Given the description of an element on the screen output the (x, y) to click on. 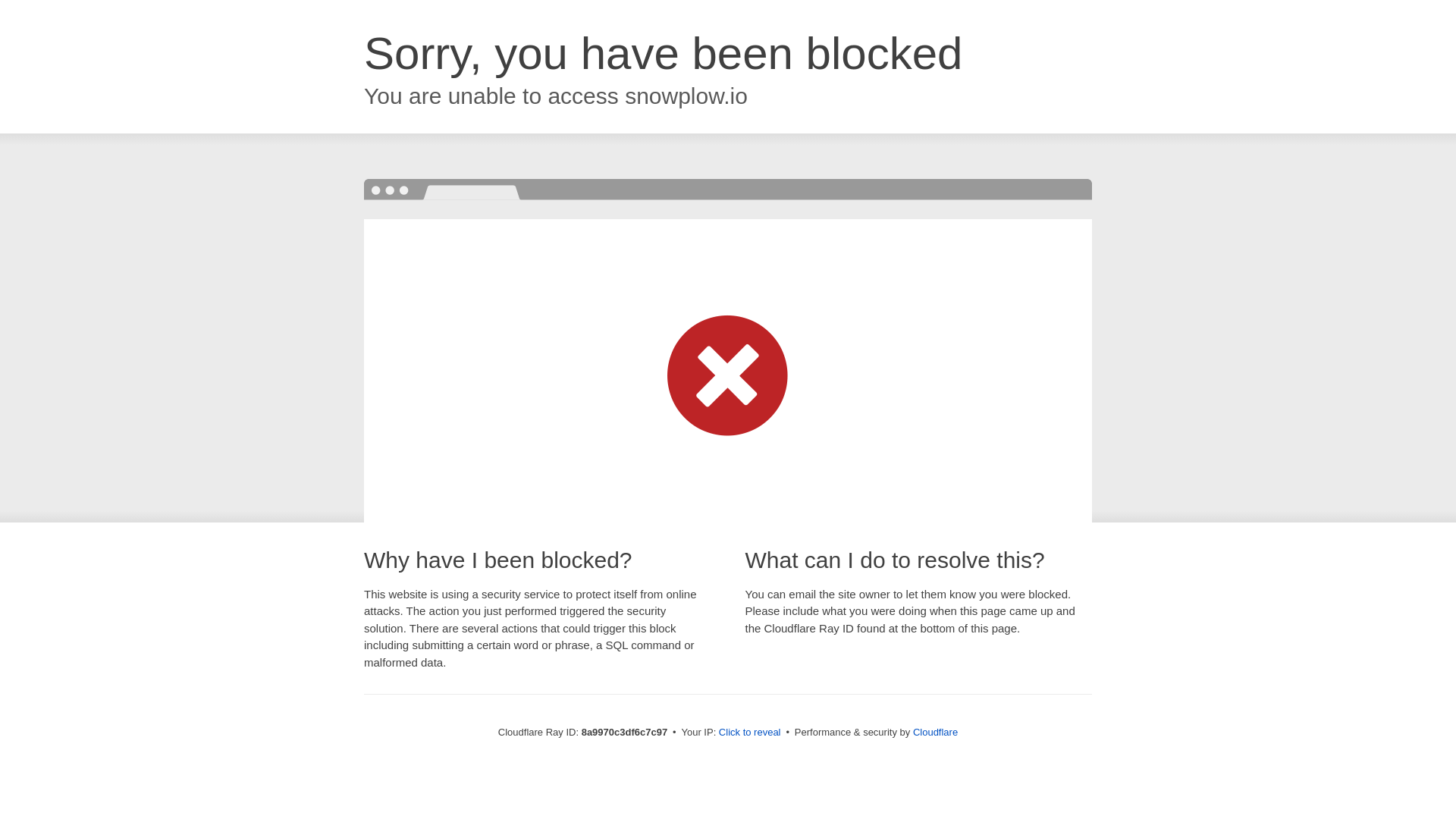
Cloudflare (935, 731)
Click to reveal (749, 732)
